Given the description of an element on the screen output the (x, y) to click on. 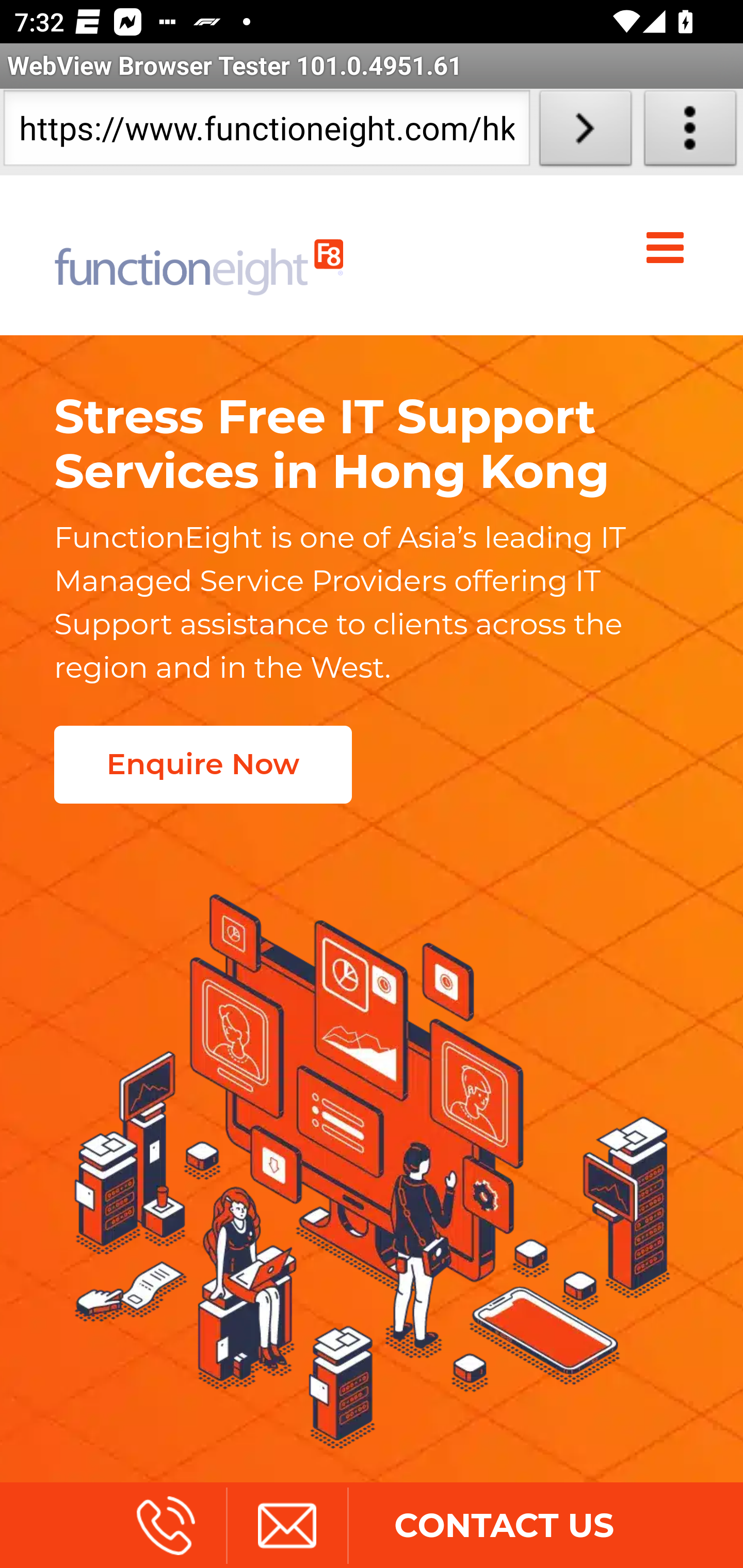
Load URL (585, 132)
About WebView (690, 132)
FunctionEight Hong Kong Logo (199, 254)
Toggle mobile menu  (668, 248)
Enquire Now (202, 764)
email (286, 1524)
CONTACT US (504, 1524)
